Given the description of an element on the screen output the (x, y) to click on. 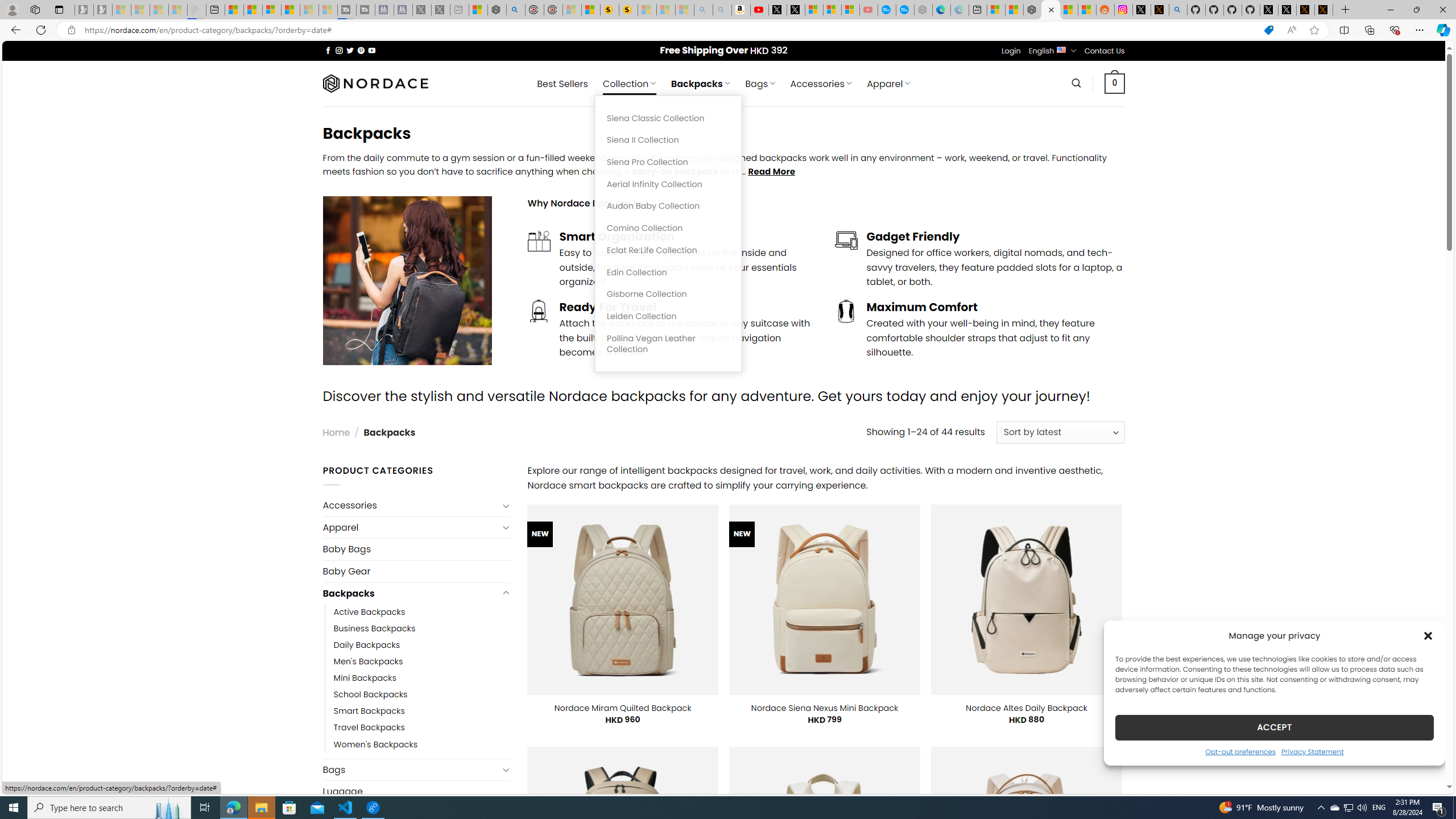
Edin Collection (668, 272)
Split screen (1344, 29)
github - Search (1178, 9)
Amazon Echo Dot PNG - Search Images - Sleeping (721, 9)
Profile / X (1268, 9)
App bar (728, 29)
  Best Sellers (562, 83)
Contact Us (1104, 50)
Travel Backpacks (422, 727)
Nordace (374, 83)
Siena Pro Collection (668, 162)
